Given the description of an element on the screen output the (x, y) to click on. 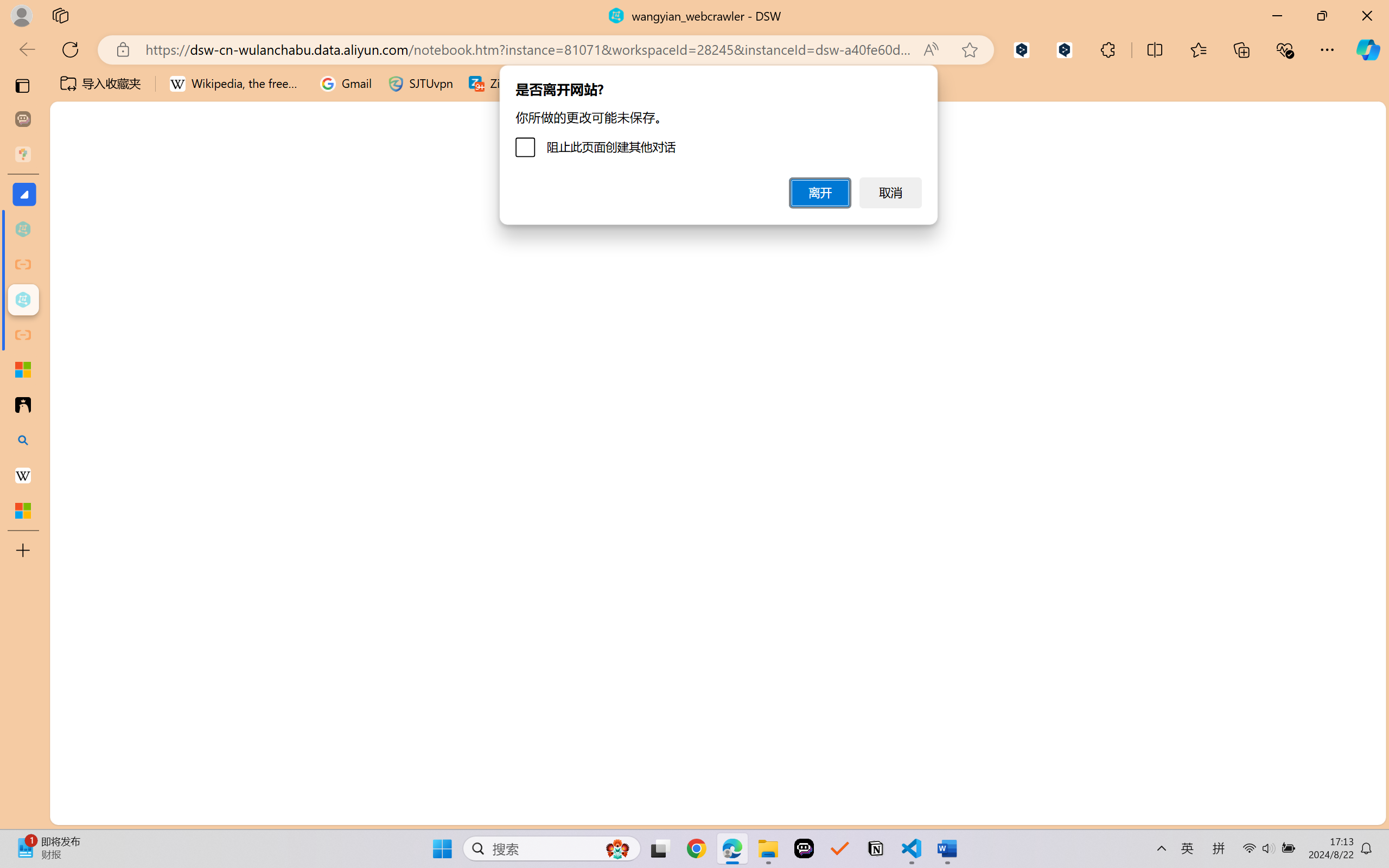
Inspect without Color (191, 62)
Chinese Traditional (1271, 655)
Bodo (1271, 458)
Azerbaijani (1271, 334)
